Given the description of an element on the screen output the (x, y) to click on. 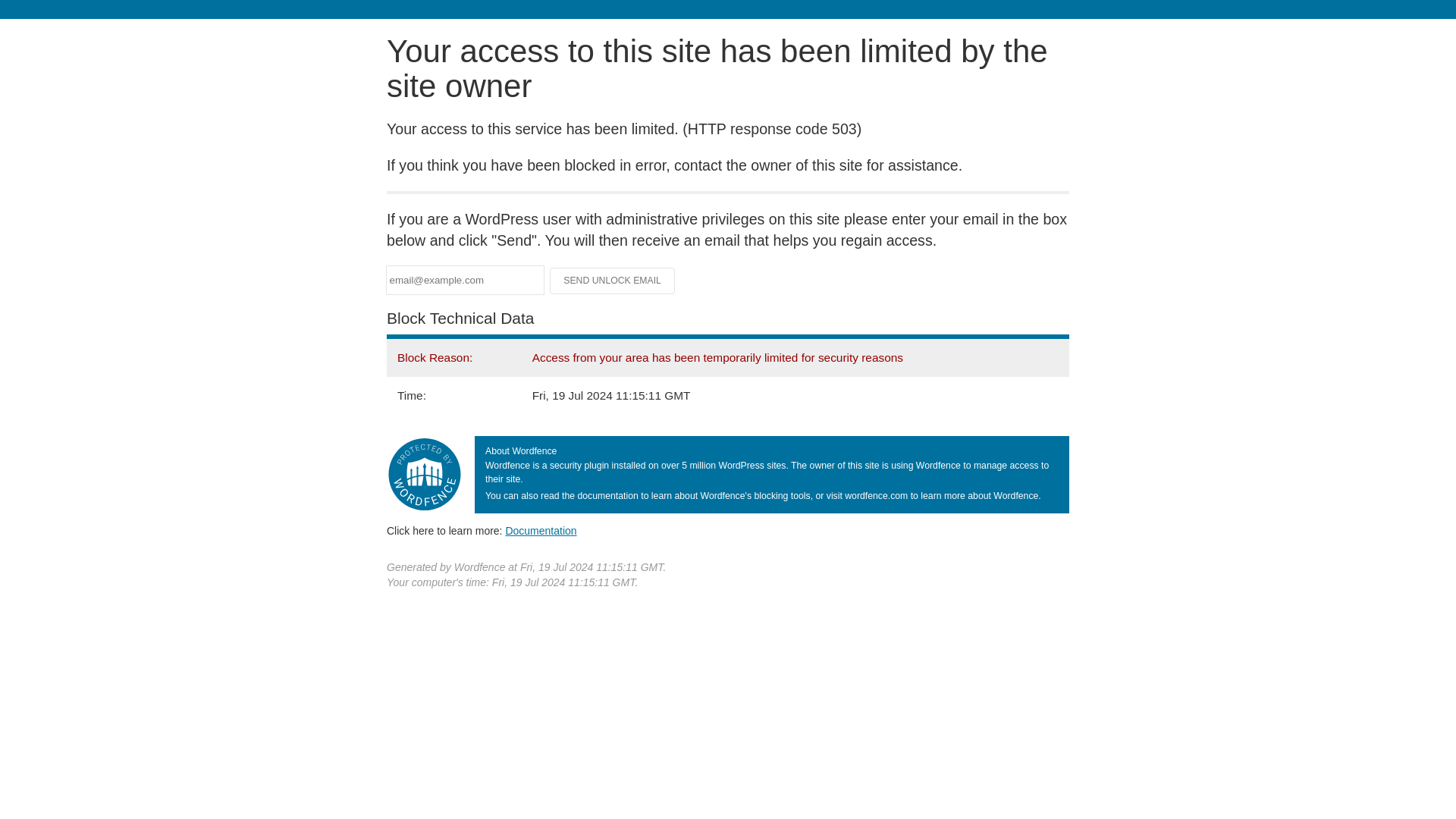
Send Unlock Email (612, 280)
Send Unlock Email (612, 280)
